Given the description of an element on the screen output the (x, y) to click on. 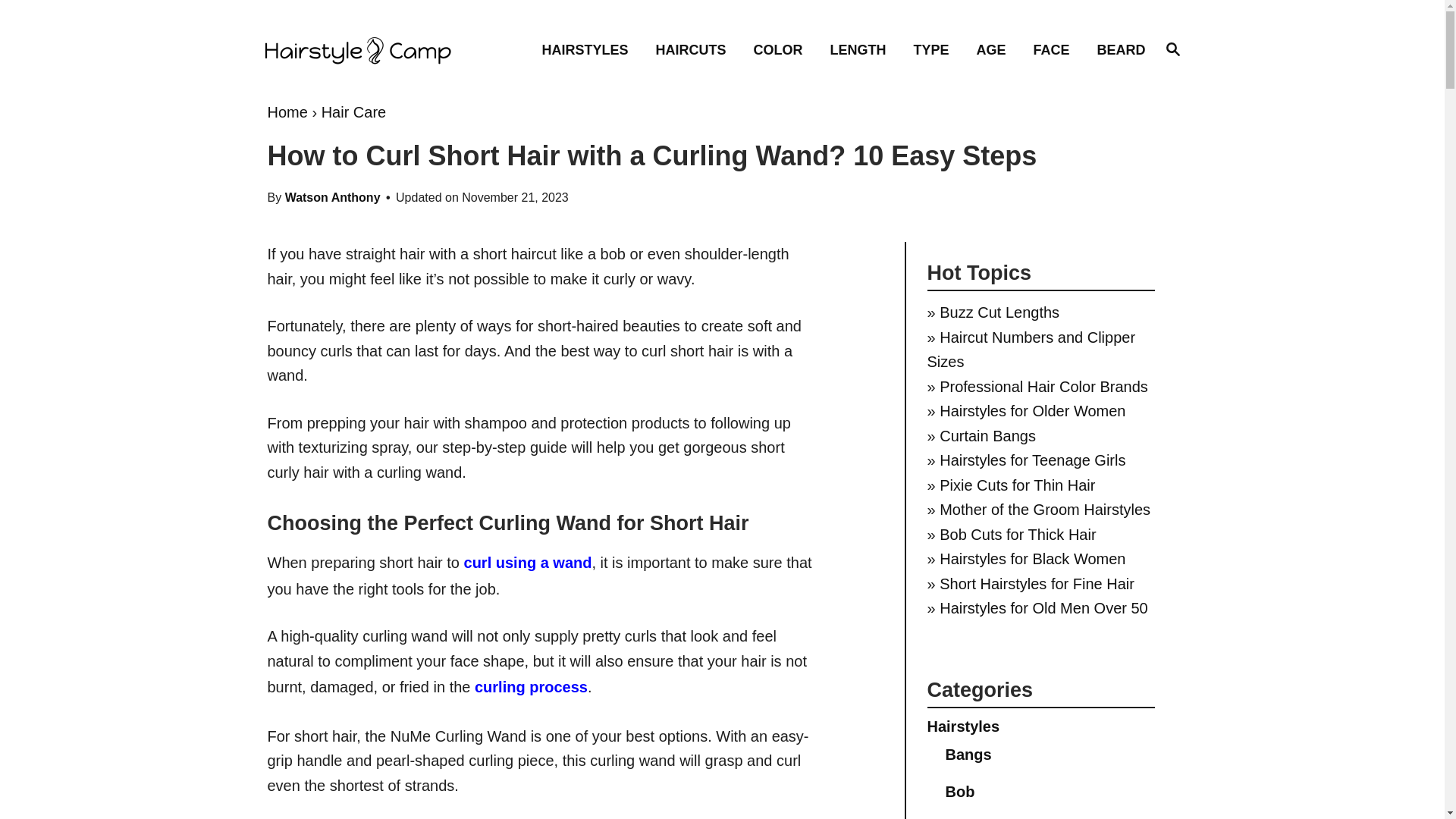
HAIRSTYLES (589, 49)
COLOR (782, 49)
HAIRCUTS (1171, 49)
Magnifying Glass (695, 49)
Hairstyle Camp (1171, 48)
